Given the description of an element on the screen output the (x, y) to click on. 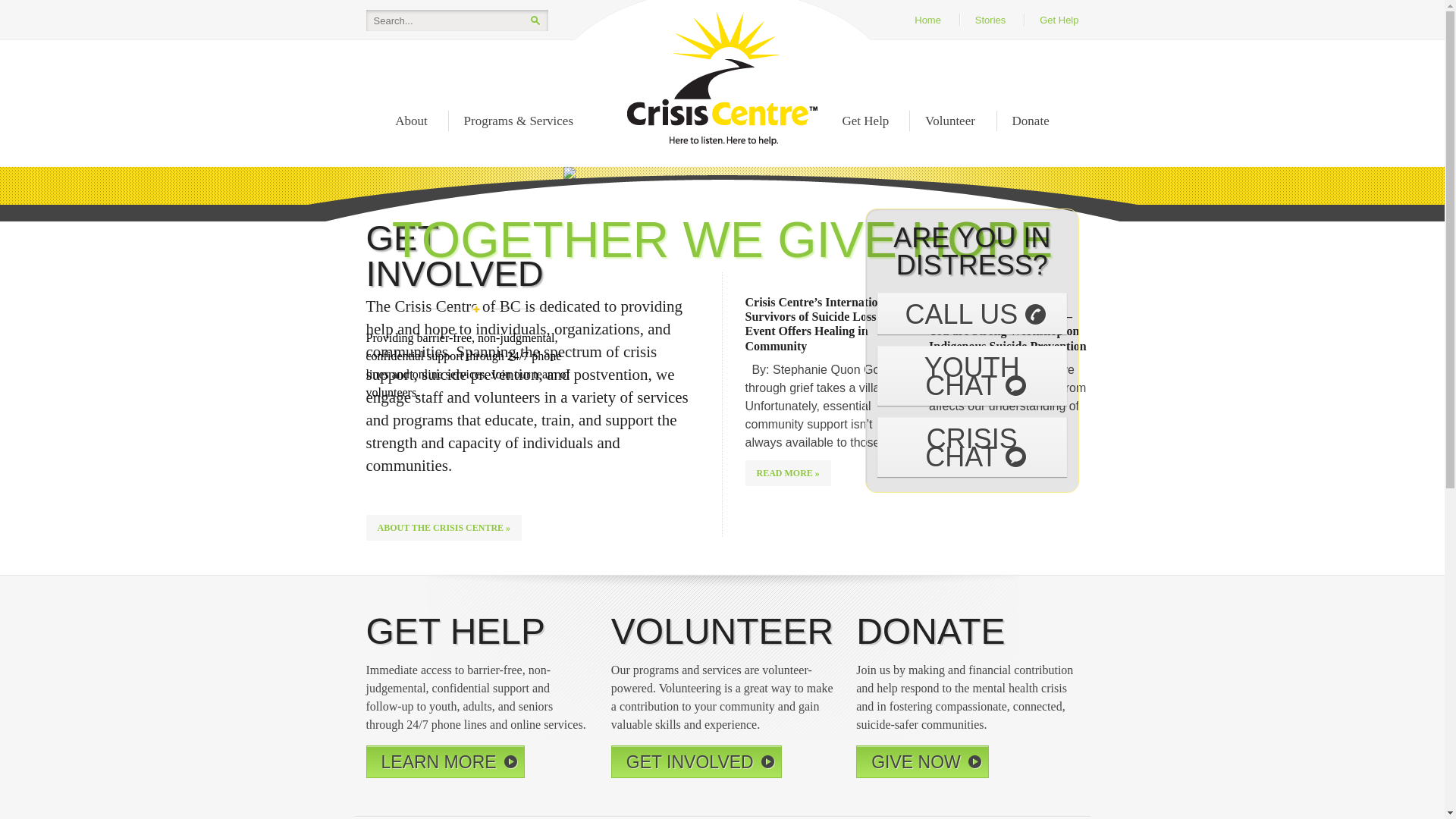
CRISIS CHAT Element type: text (971, 446)
Get Help Element type: text (1058, 19)
GIVE NOW Element type: text (922, 761)
About Element type: text (411, 120)
GET INVOLVED Element type: text (696, 761)
YOUTH CHAT Element type: text (971, 375)
CALL US Element type: text (971, 313)
Volunteer Element type: text (950, 120)
Get Help Element type: text (865, 120)
Programs & Services Element type: text (518, 120)
Home Element type: text (927, 19)
LEARN MORE Element type: text (444, 761)
Donate Element type: text (1030, 120)
Stories Element type: text (990, 19)
